Given the description of an element on the screen output the (x, y) to click on. 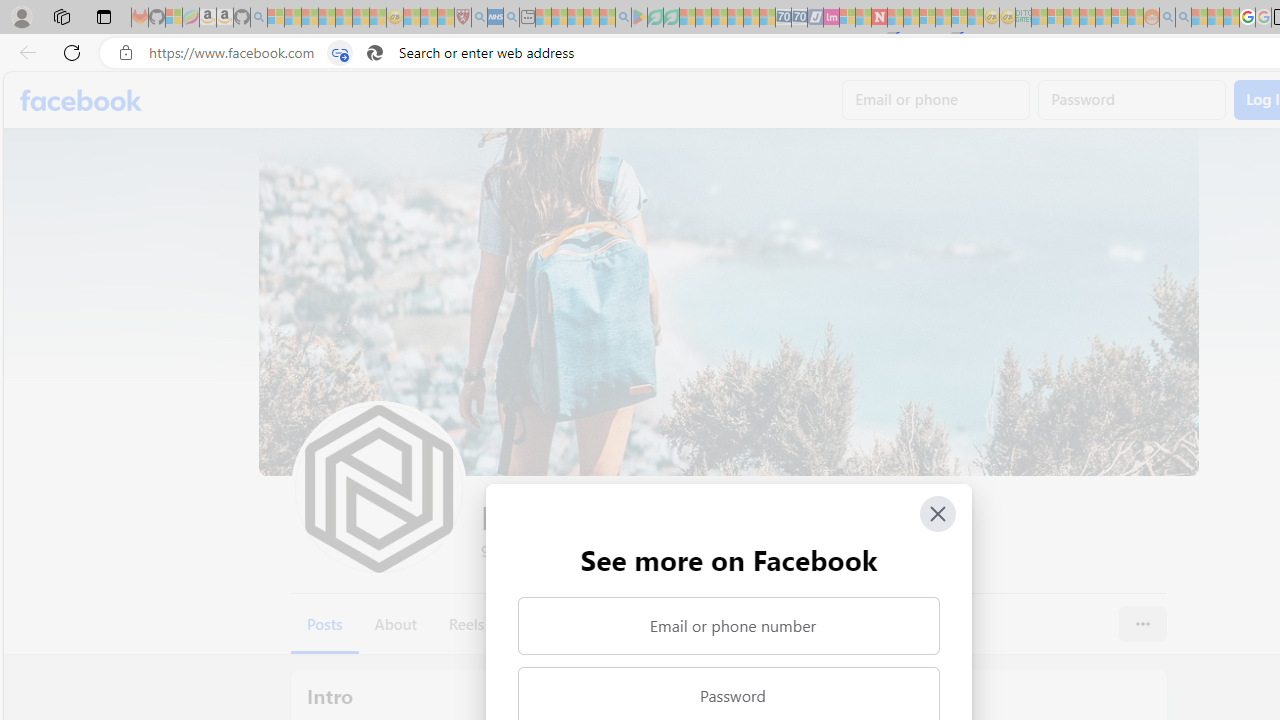
Email or phone (936, 99)
Terms of Use Agreement - Sleeping (655, 17)
Local - MSN - Sleeping (445, 17)
Robert H. Shmerling, MD - Harvard Health - Sleeping (462, 17)
Kinda Frugal - MSN - Sleeping (1103, 17)
Facebook (81, 99)
